Given the description of an element on the screen output the (x, y) to click on. 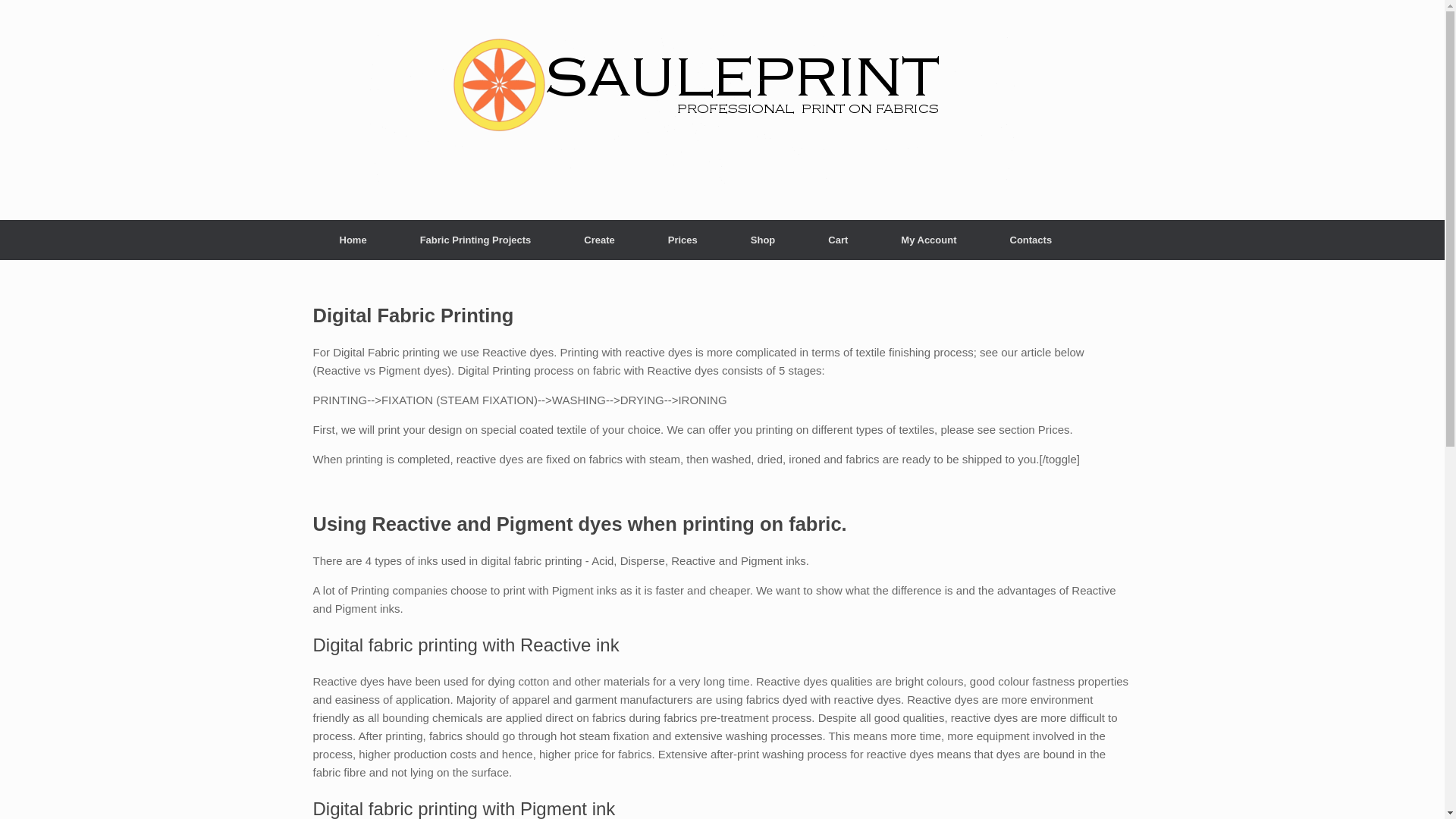
www.sauleprint.com (691, 109)
Contacts (1031, 240)
Home (353, 240)
Create (598, 240)
Prices (682, 240)
Fabric Printing Projects (475, 240)
Cart (838, 240)
My Account (928, 240)
Shop (762, 240)
